Given the description of an element on the screen output the (x, y) to click on. 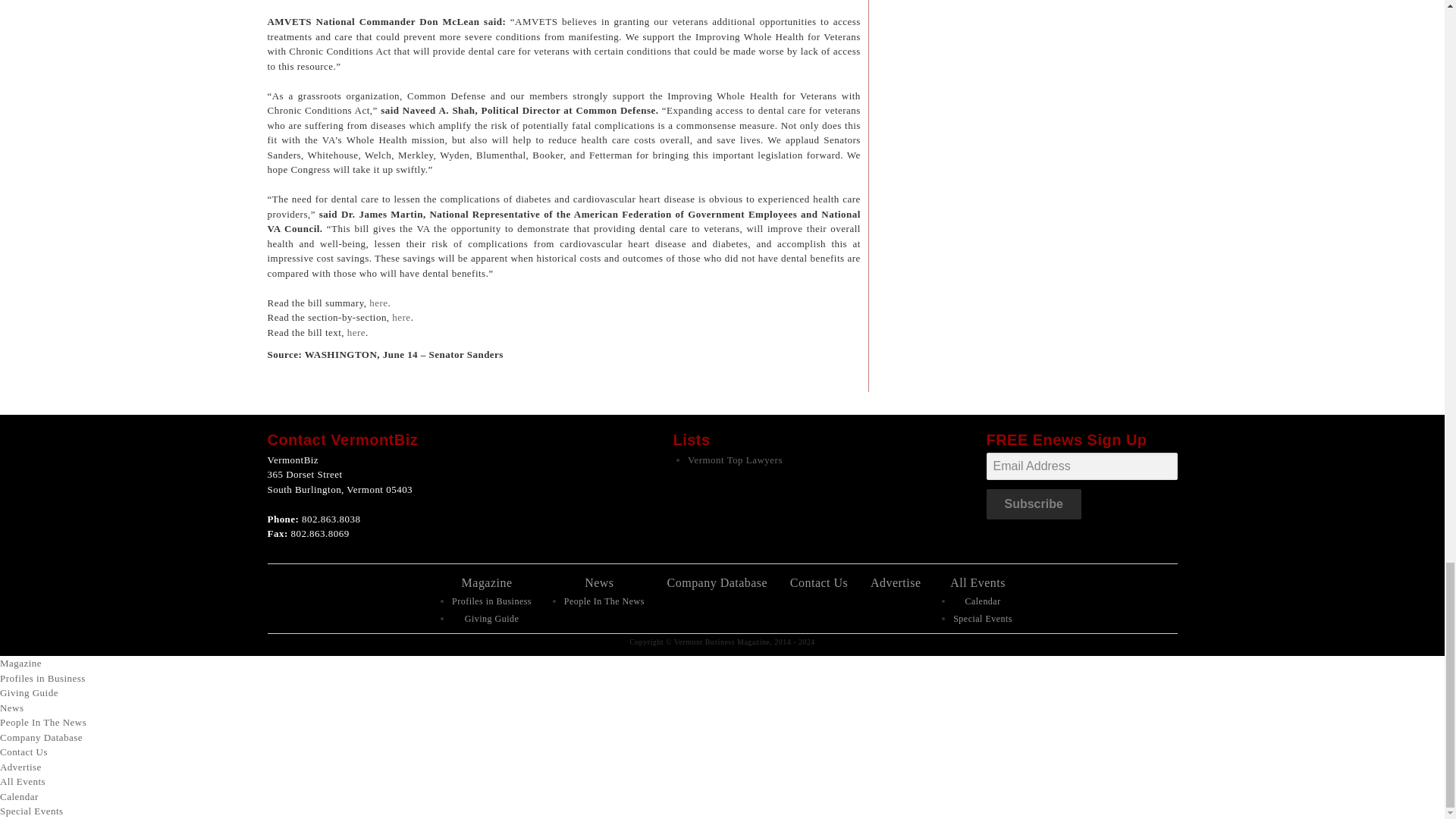
Subscribe (1032, 503)
Vermont Top Lawyers (735, 460)
Advertise (895, 582)
News (598, 582)
Subscribe (1032, 503)
Magazine (486, 582)
Profiles in Business (491, 601)
All Events (978, 582)
People In The News (604, 601)
Company Database (717, 582)
here (356, 332)
Giving Guide (491, 618)
here (378, 302)
here (400, 317)
Contact Us (818, 582)
